Given the description of an element on the screen output the (x, y) to click on. 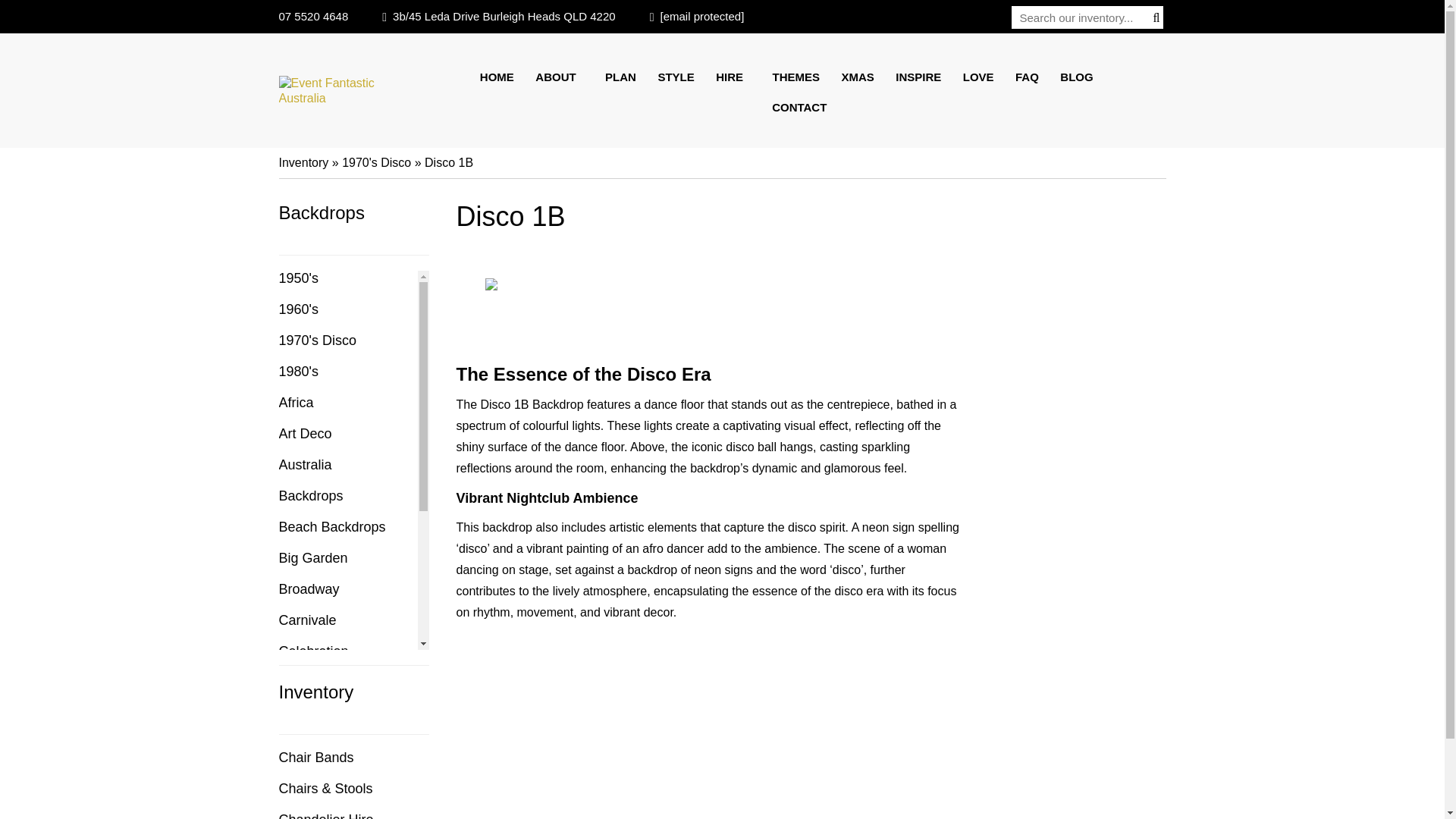
HIRE (733, 77)
Home (501, 77)
PLAN (620, 77)
ABOUT (558, 77)
07 5520 4648 (314, 15)
STYLE (675, 77)
ABOUT (558, 77)
HOME (501, 77)
Hire (733, 77)
Style (675, 77)
Plan (620, 77)
